Given the description of an element on the screen output the (x, y) to click on. 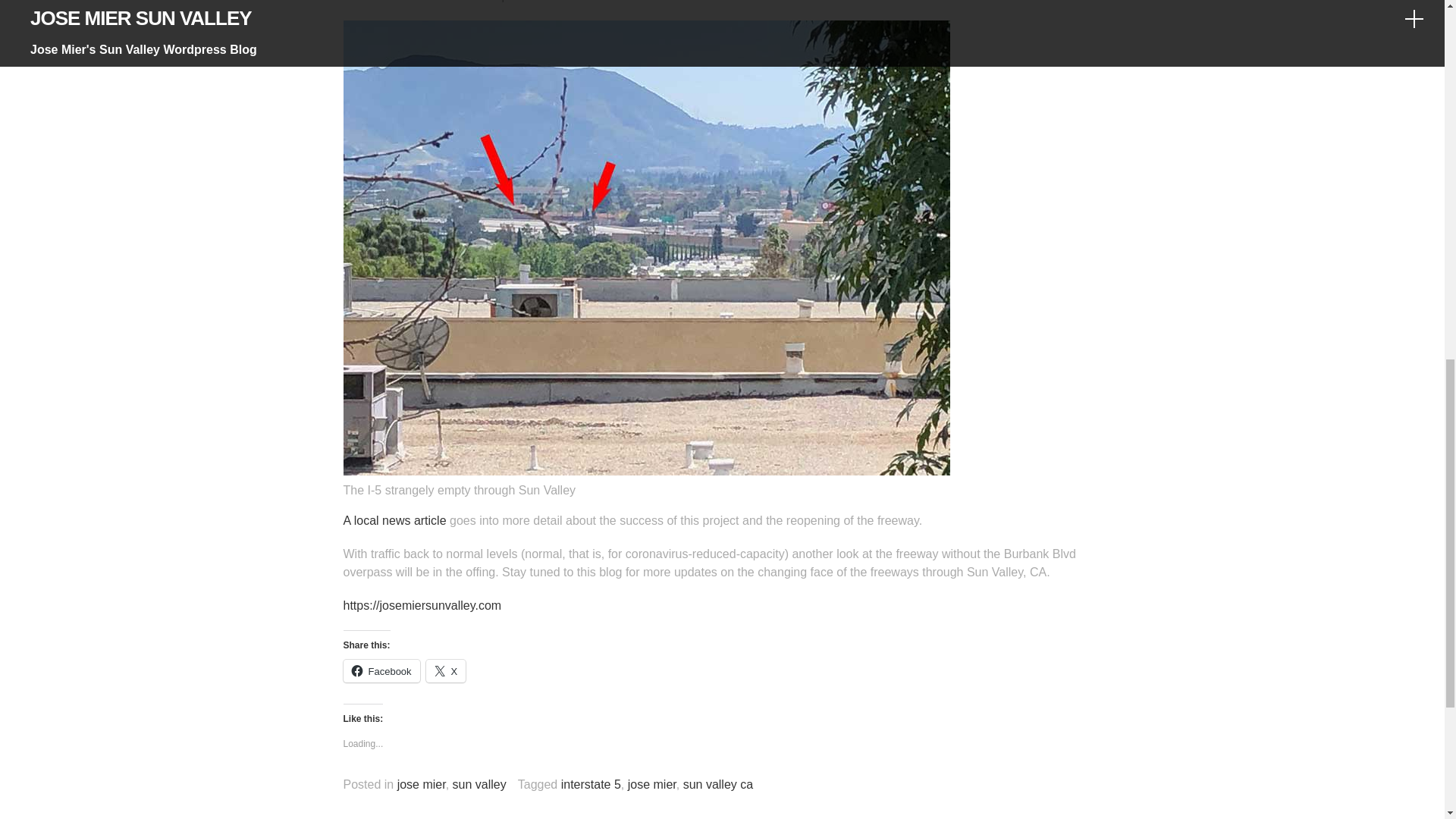
jose mier (421, 784)
Click to share on X (445, 671)
X (445, 671)
Facebook (380, 671)
sun valley ca (718, 784)
sun valley (479, 784)
jose mier (652, 784)
interstate 5 (590, 784)
A local news article (393, 520)
Click to share on Facebook (380, 671)
